Given the description of an element on the screen output the (x, y) to click on. 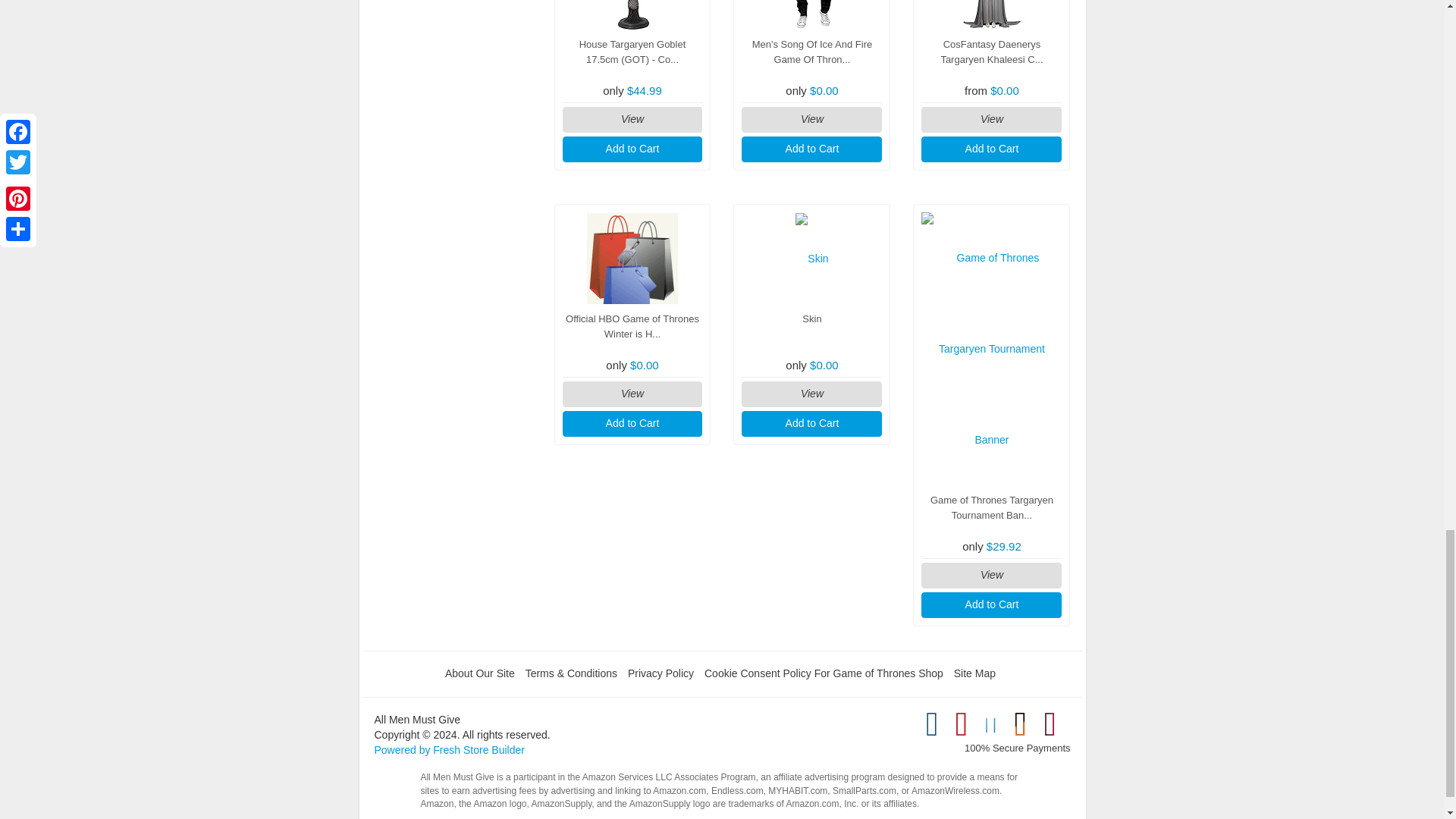
Add to Cart (991, 149)
Add to Cart (811, 149)
Men's Song Of Ice And Fire Game Of Thron... (812, 51)
View (991, 119)
View (632, 119)
Skin (811, 257)
Game of Thrones Targaryen Tournament Banner (991, 348)
View (811, 119)
Add to Cart (632, 149)
CosFantasy Daenerys Targaryen Khaleesi C... (991, 51)
